Given the description of an element on the screen output the (x, y) to click on. 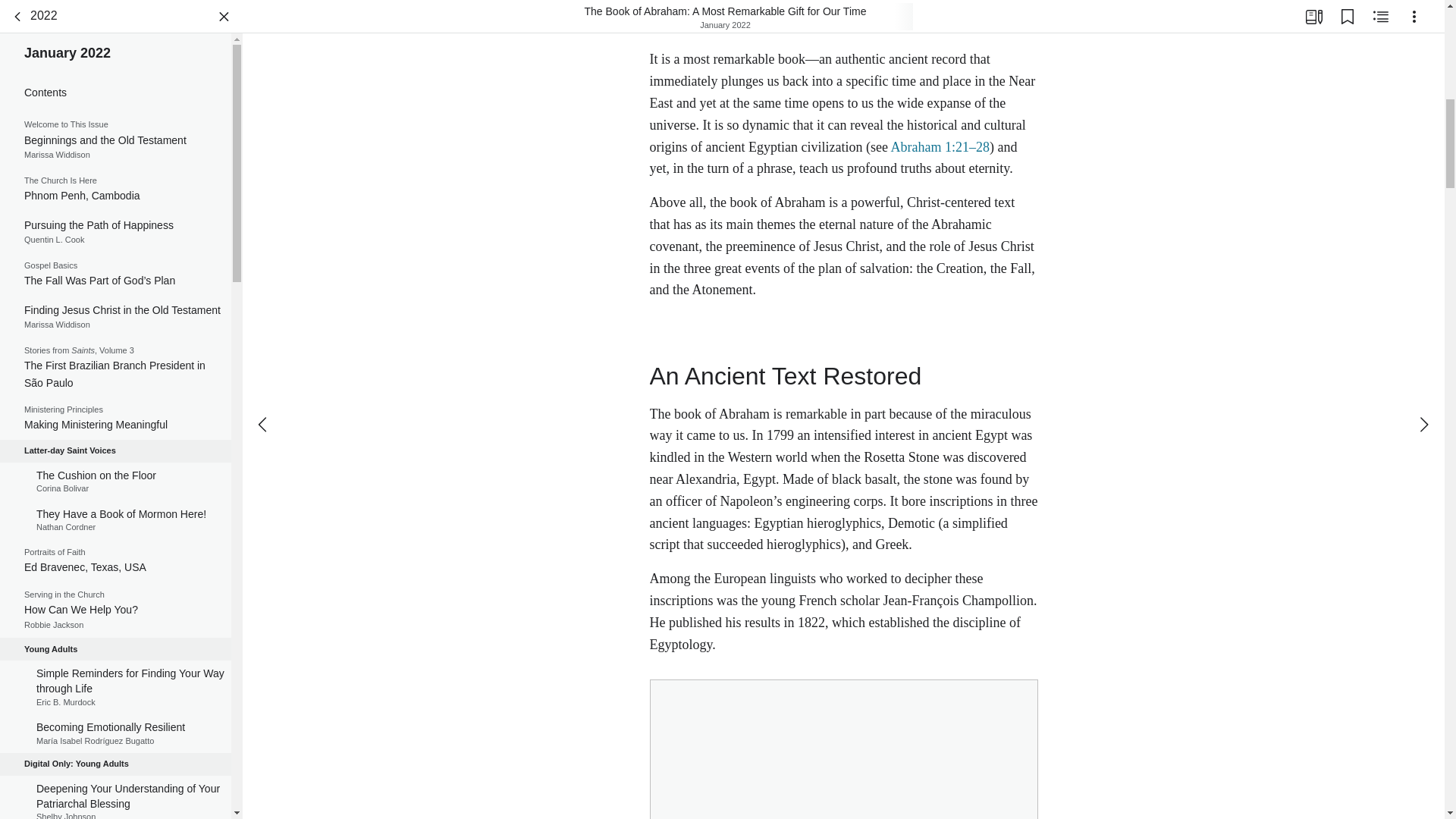
Come, Follow Me Shareable Scriptures (115, 242)
Who Was Enoch? (115, 643)
The Creation (115, 442)
